Given the description of an element on the screen output the (x, y) to click on. 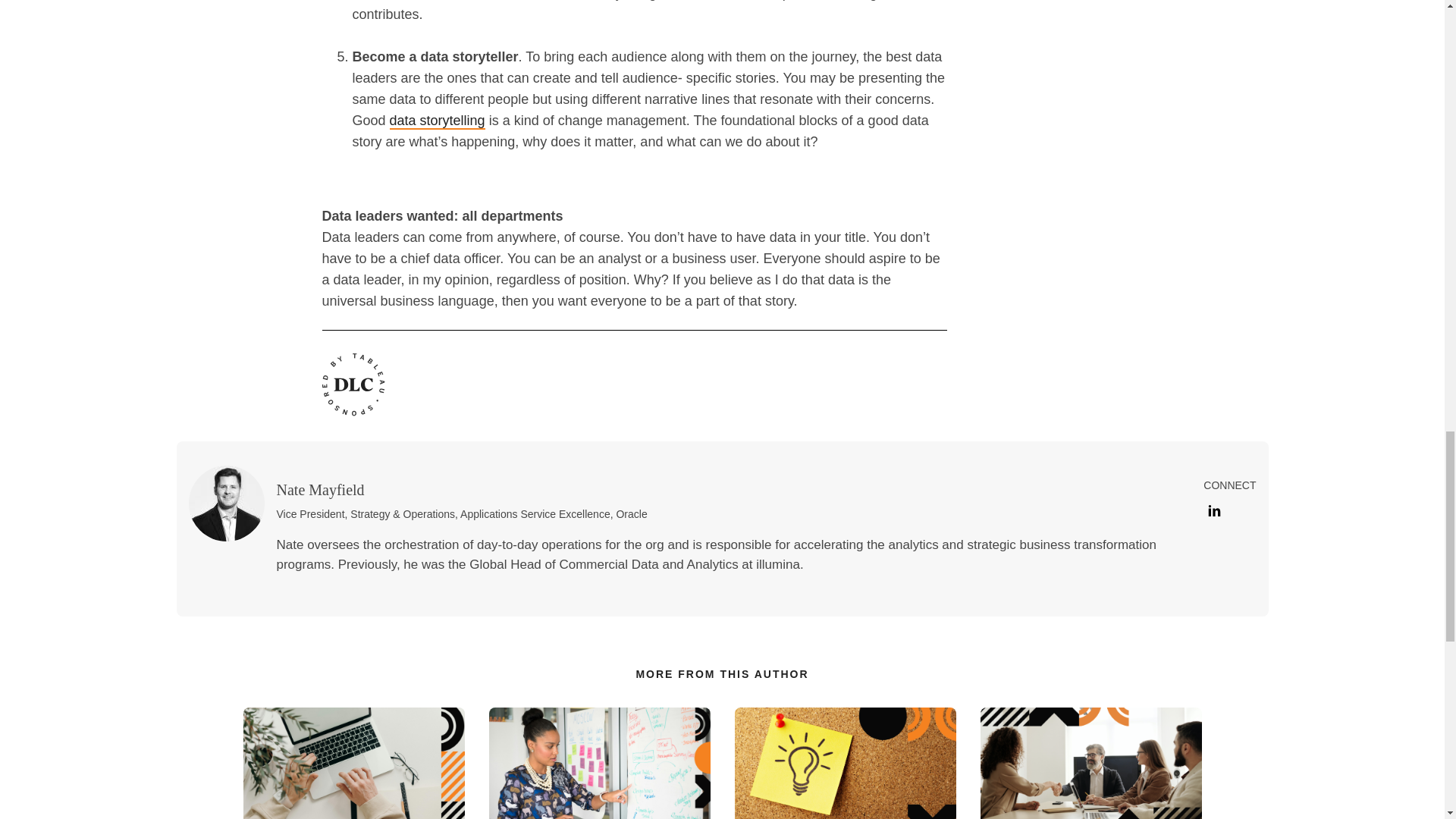
LinkedIn (1211, 510)
data storytelling (437, 121)
